Given the description of an element on the screen output the (x, y) to click on. 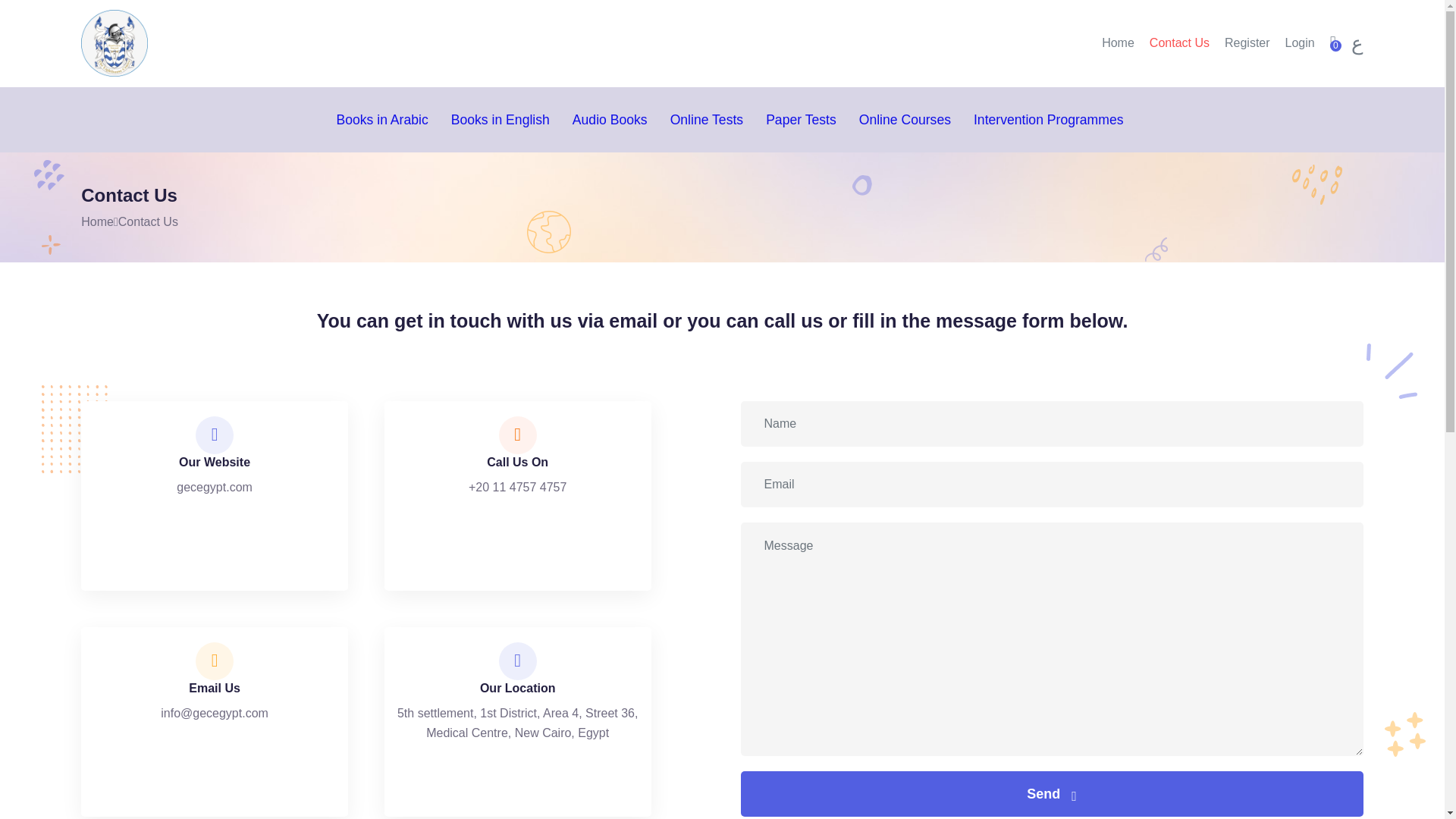
Register (1246, 42)
Books in English (500, 119)
Contact Us (1179, 42)
Online Tests (706, 119)
Audio Books (609, 119)
Login (1299, 42)
Paper Tests (800, 119)
Home (1118, 42)
gecegypt.com (213, 486)
Online Courses (904, 119)
Home (97, 221)
Intervention Programmes (1049, 119)
Send (1050, 793)
Books in Arabic (382, 119)
